Given the description of an element on the screen output the (x, y) to click on. 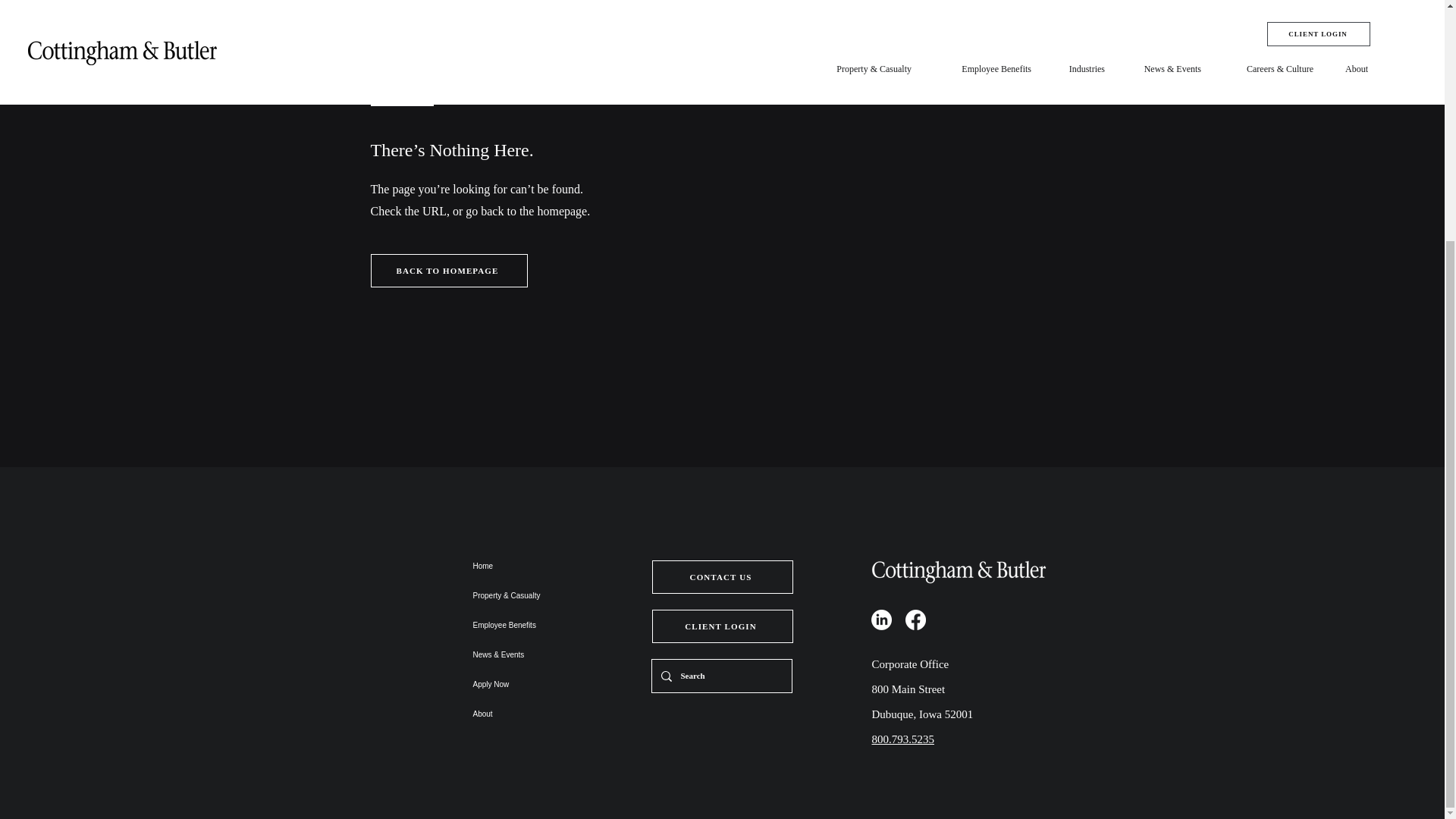
BACK TO HOMEPAGE (448, 270)
Apply Now (526, 684)
Home (526, 565)
About (526, 713)
Employee Benefits (526, 624)
